Given the description of an element on the screen output the (x, y) to click on. 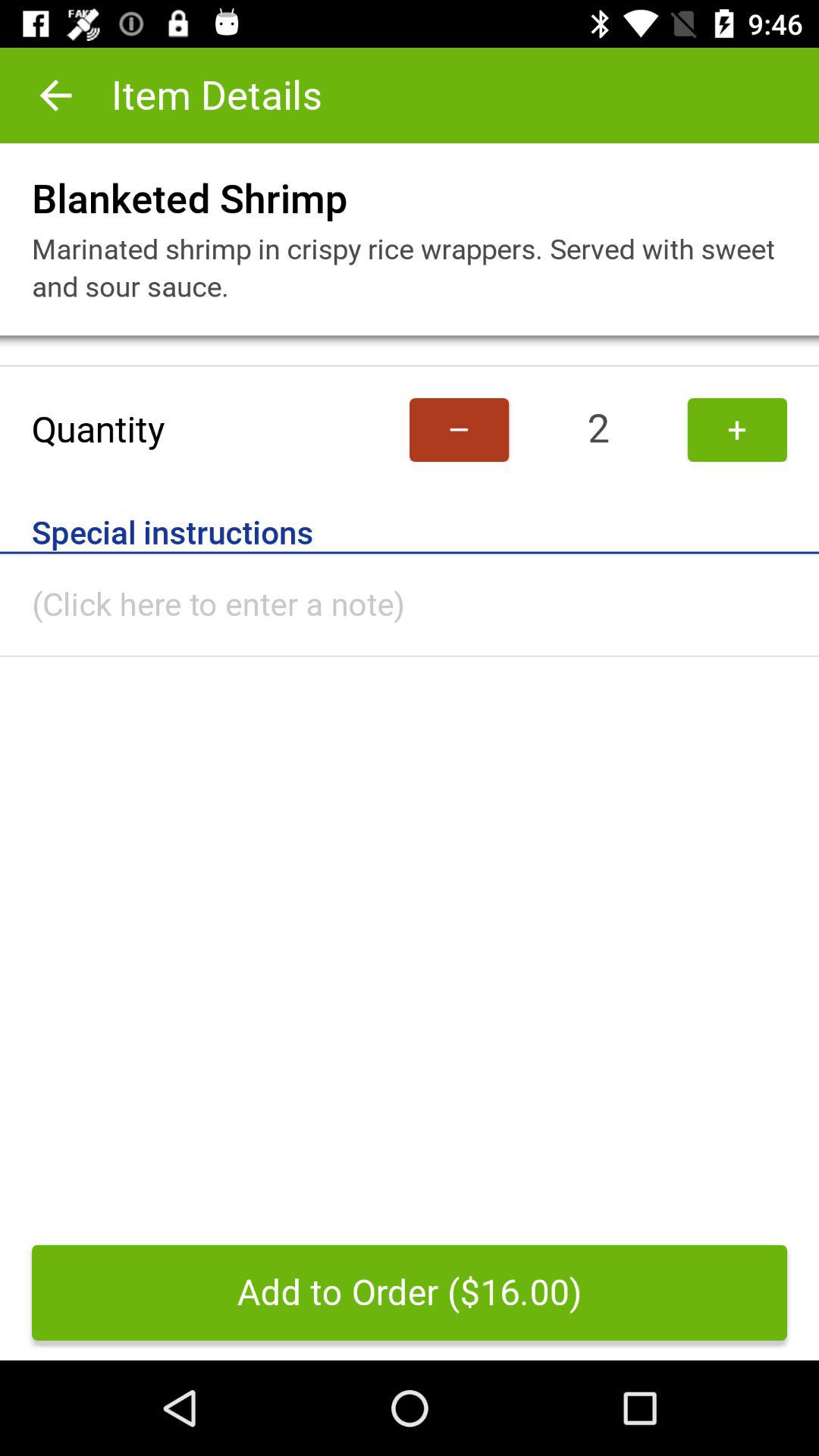
click the icon above the special instructions item (459, 429)
